Given the description of an element on the screen output the (x, y) to click on. 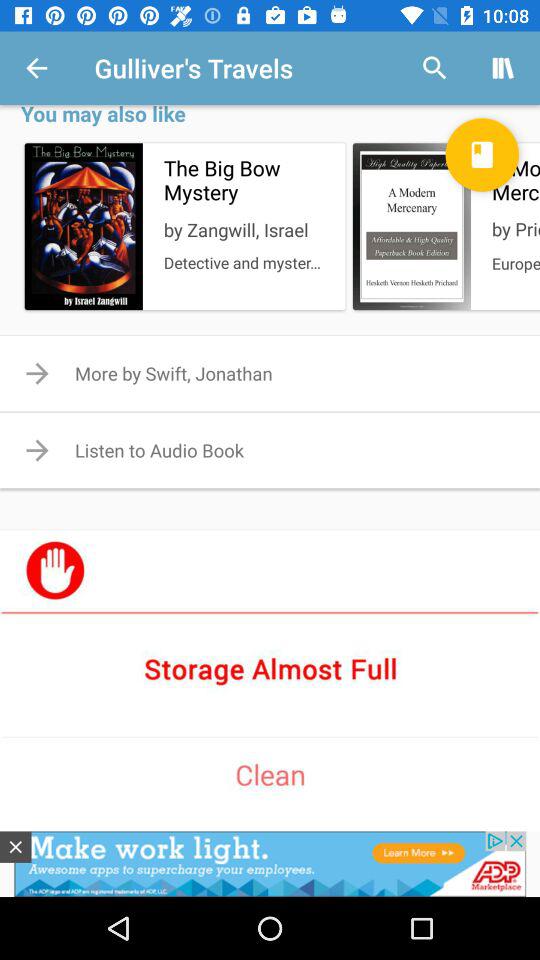
opens advertisement (270, 864)
